Given the description of an element on the screen output the (x, y) to click on. 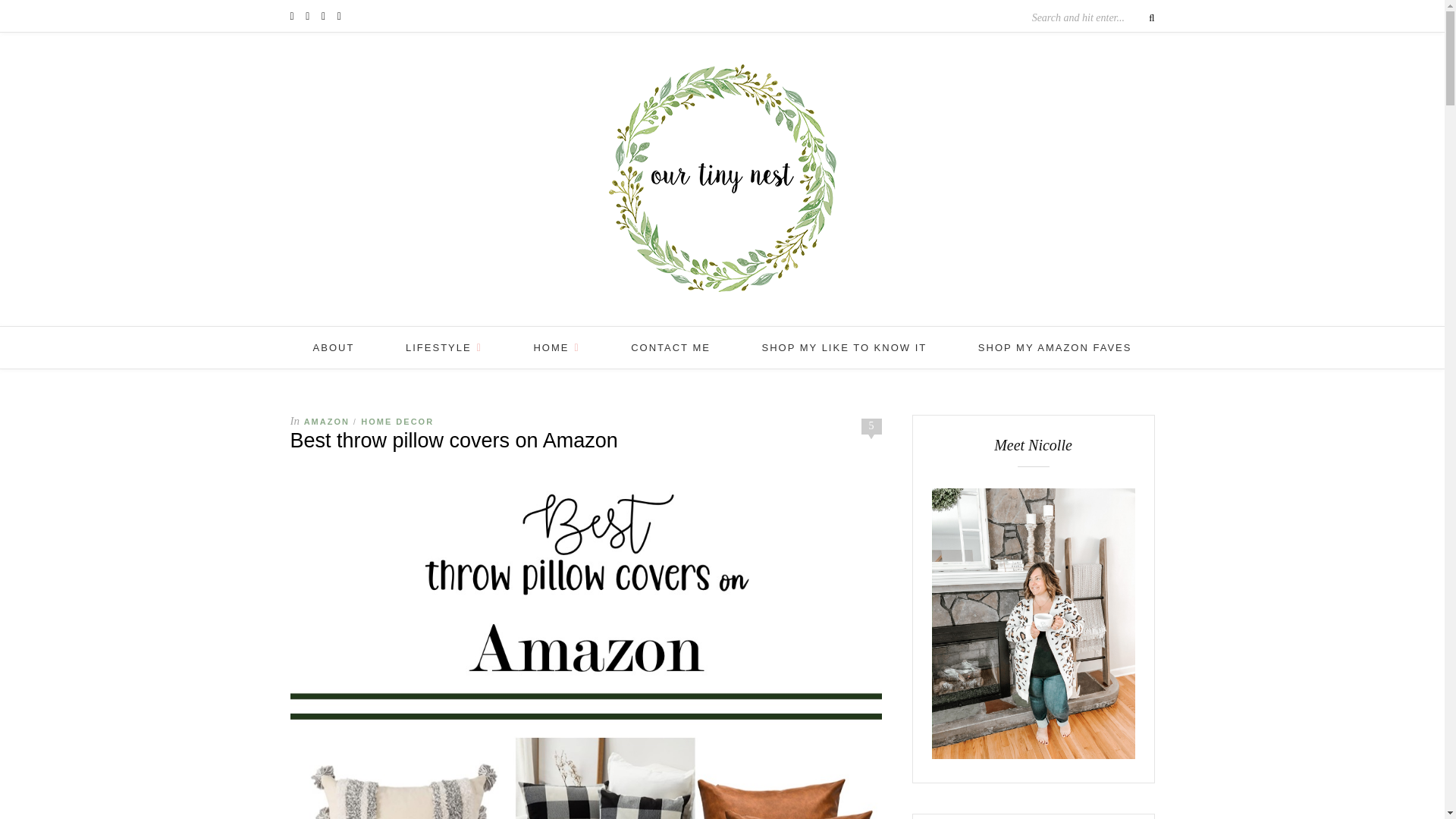
ABOUT (334, 347)
AMAZON (326, 420)
SHOP MY LIKE TO KNOW IT (844, 347)
HOME (555, 347)
HOME DECOR (397, 420)
SHOP MY AMAZON FAVES (1055, 347)
LIFESTYLE (443, 347)
CONTACT ME (670, 347)
